Given the description of an element on the screen output the (x, y) to click on. 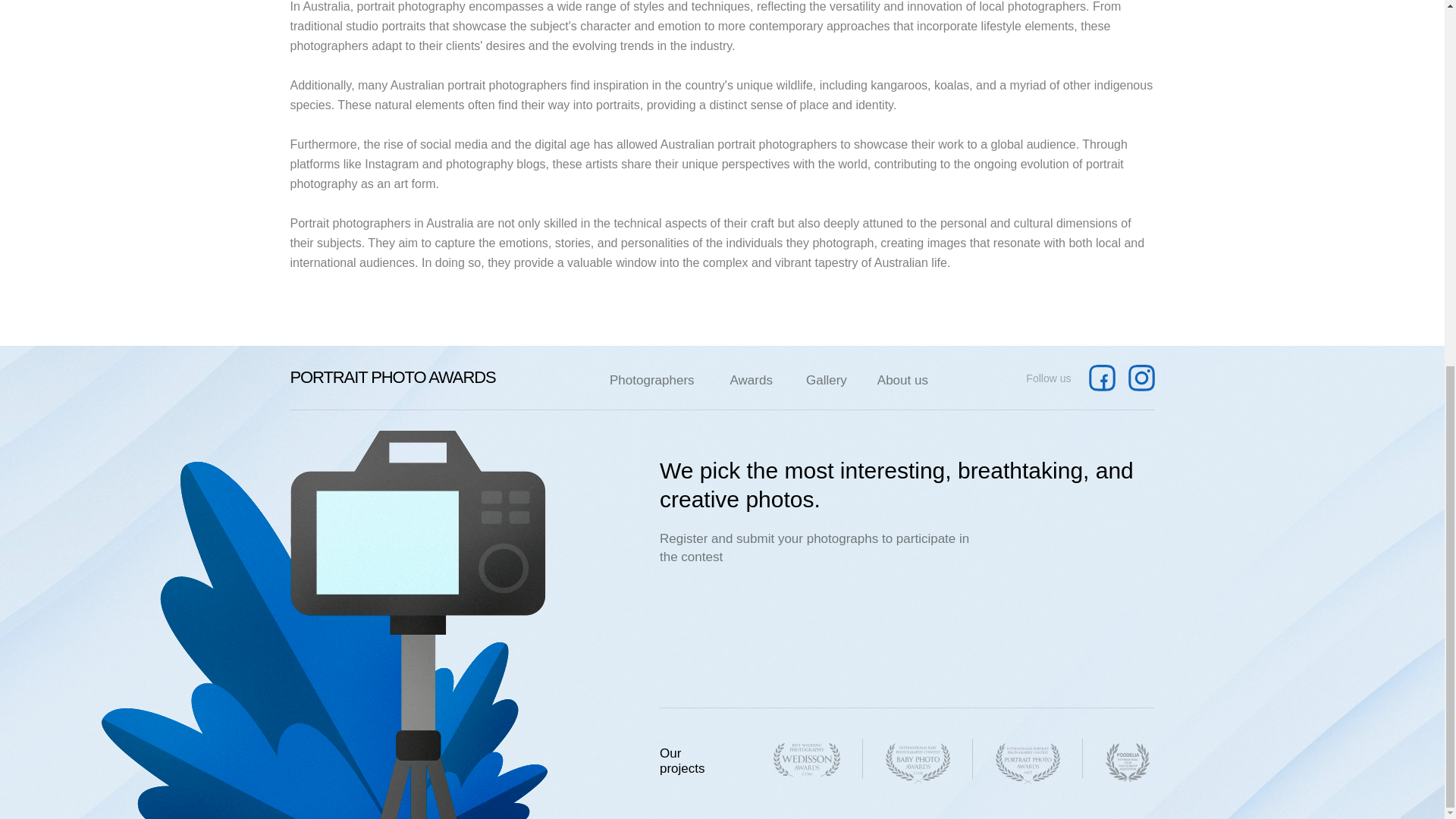
PORTRAIT PHOTO AWARDS (392, 377)
Photographers (652, 379)
Gallery (826, 379)
Awards (751, 379)
About us (902, 379)
